Given the description of an element on the screen output the (x, y) to click on. 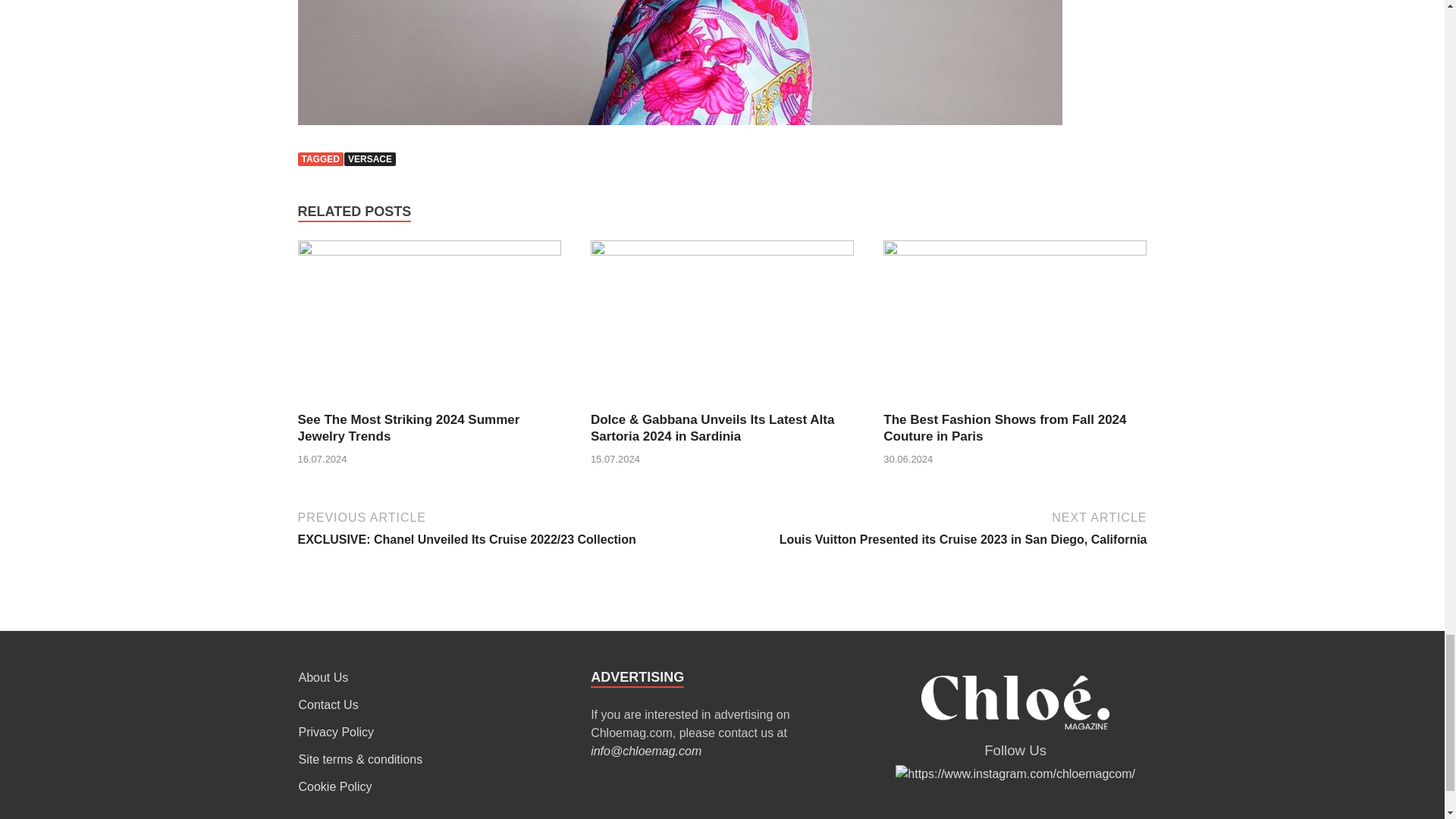
See The Most Striking 2024 Summer Jewelry Trends (428, 250)
The Best Fashion Shows from Fall 2024 Couture in Paris (1004, 427)
See The Most Striking 2024 Summer Jewelry Trends (408, 427)
The Best Fashion Shows from Fall 2024 Couture in Paris (1015, 250)
Cookie Policy (335, 786)
Privacy Policy (336, 731)
Contact Us (328, 704)
The Best Fashion Shows from Fall 2024 Couture in Paris (1004, 427)
VERSACE (369, 159)
See The Most Striking 2024 Summer Jewelry Trends (408, 427)
About Us (323, 676)
